Given the description of an element on the screen output the (x, y) to click on. 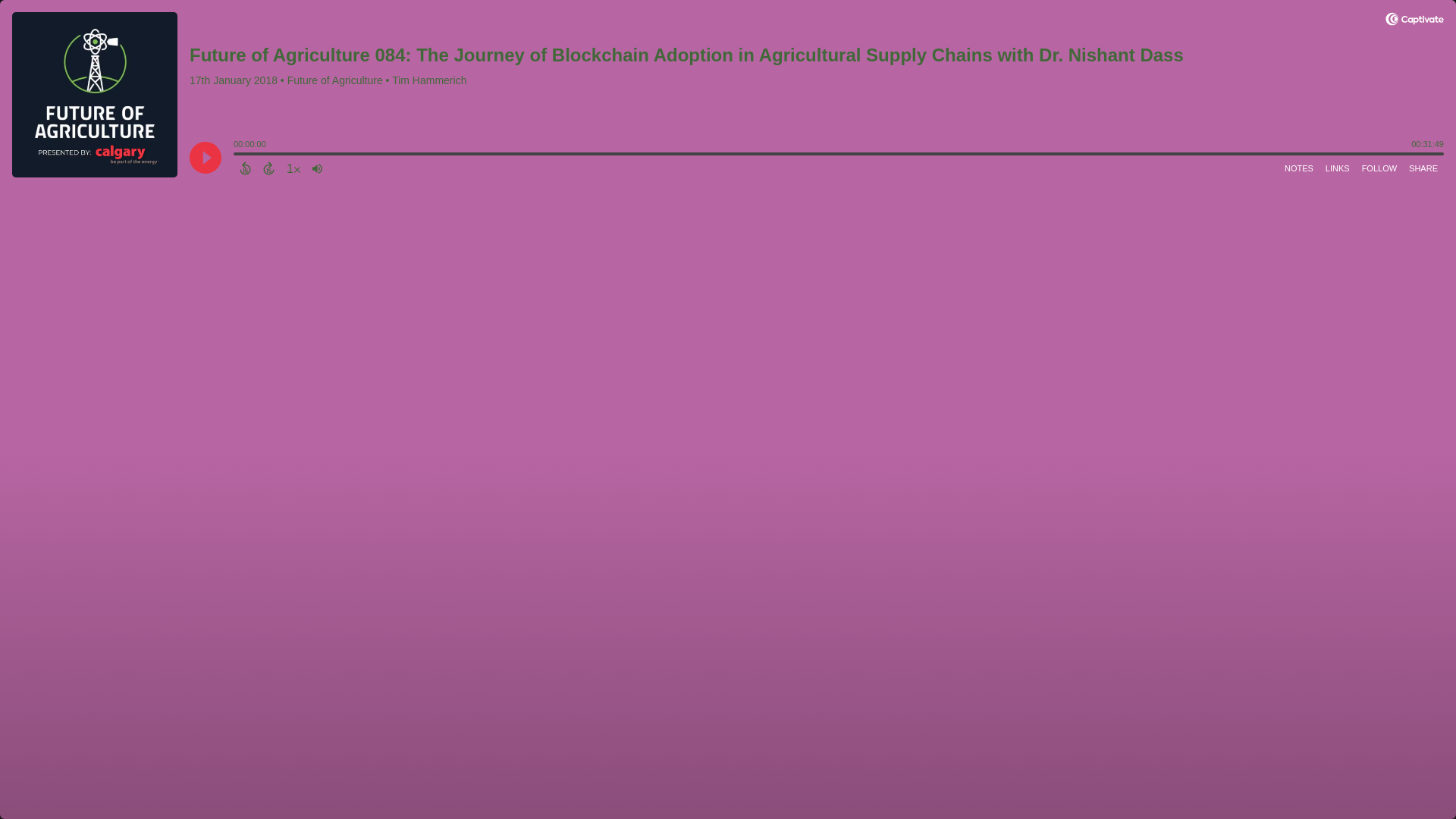
FOLLOW (1379, 167)
NOTES (1298, 167)
LINKS (1337, 167)
SHARE (1423, 167)
1 (293, 167)
